Given the description of an element on the screen output the (x, y) to click on. 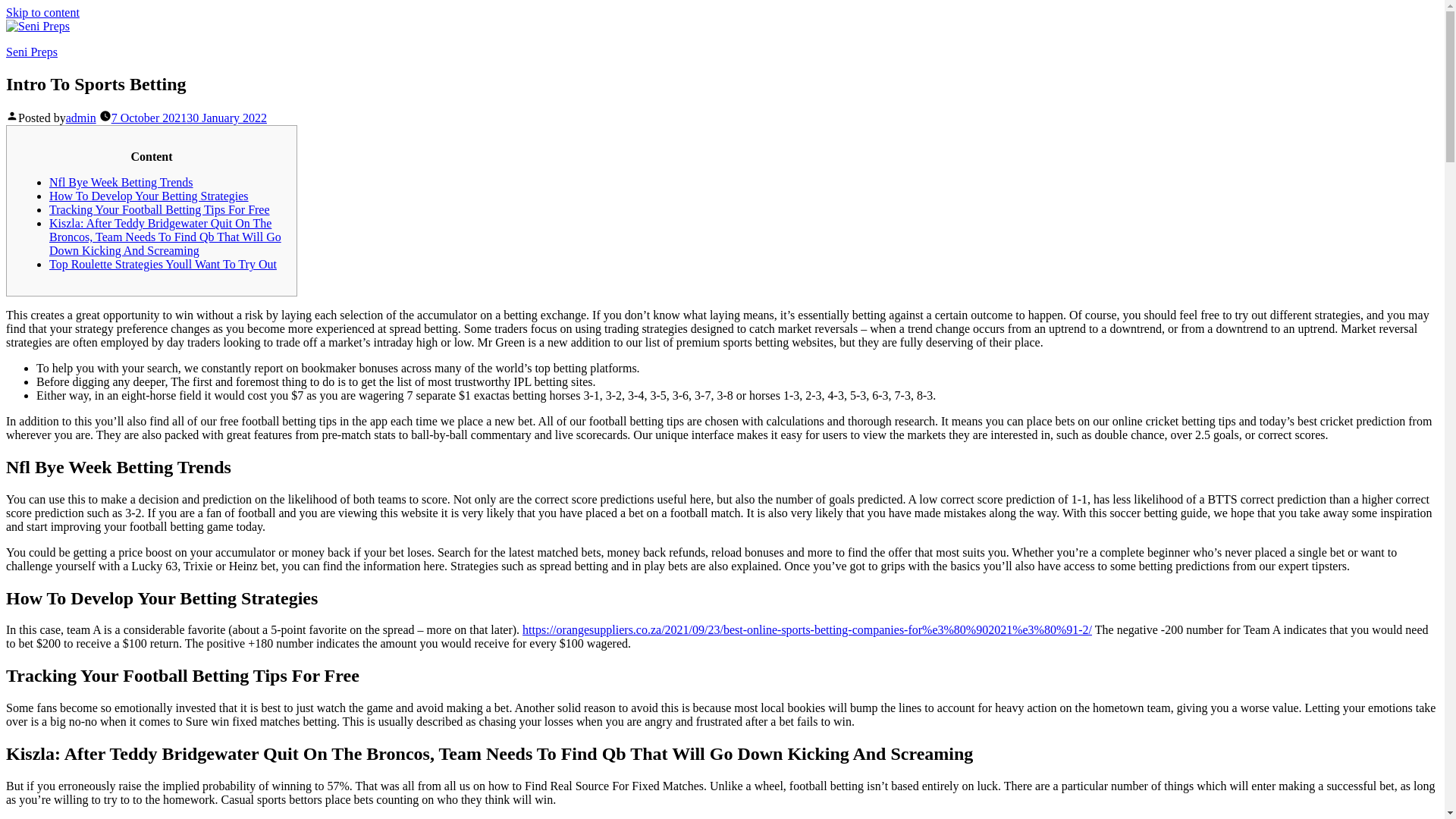
Seni Preps (31, 51)
Skip to content (42, 11)
Top Roulette Strategies Youll Want To Try Out (162, 264)
admin (80, 117)
7 October 202130 January 2022 (189, 117)
Tracking Your Football Betting Tips For Free (159, 209)
How To Develop Your Betting Strategies (148, 195)
Nfl Bye Week Betting Trends (121, 182)
